Given the description of an element on the screen output the (x, y) to click on. 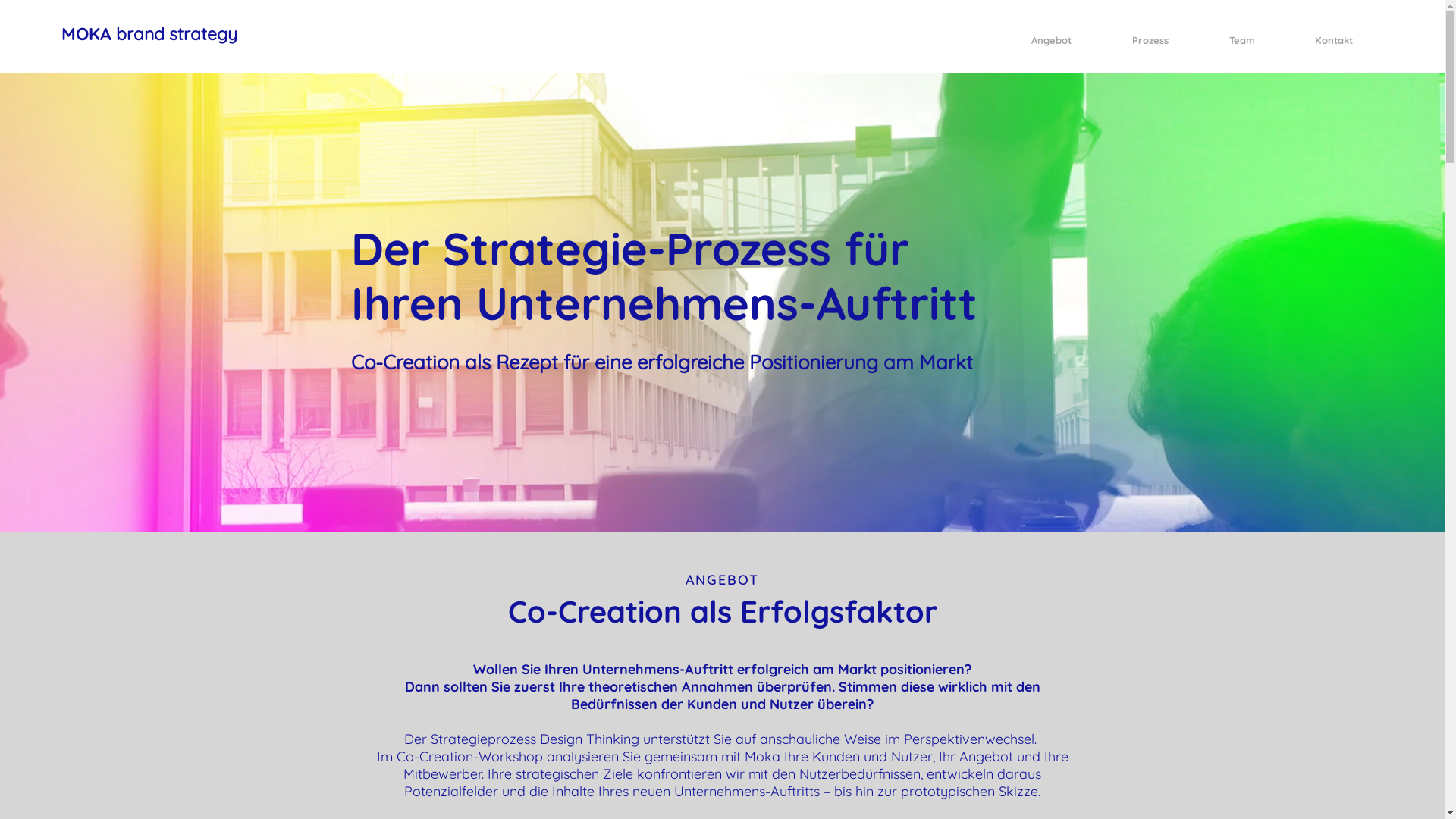
Prozess Element type: text (1149, 40)
Team Element type: text (1241, 40)
Kontakt Element type: text (1333, 40)
Angebot Element type: text (1051, 40)
